Given the description of an element on the screen output the (x, y) to click on. 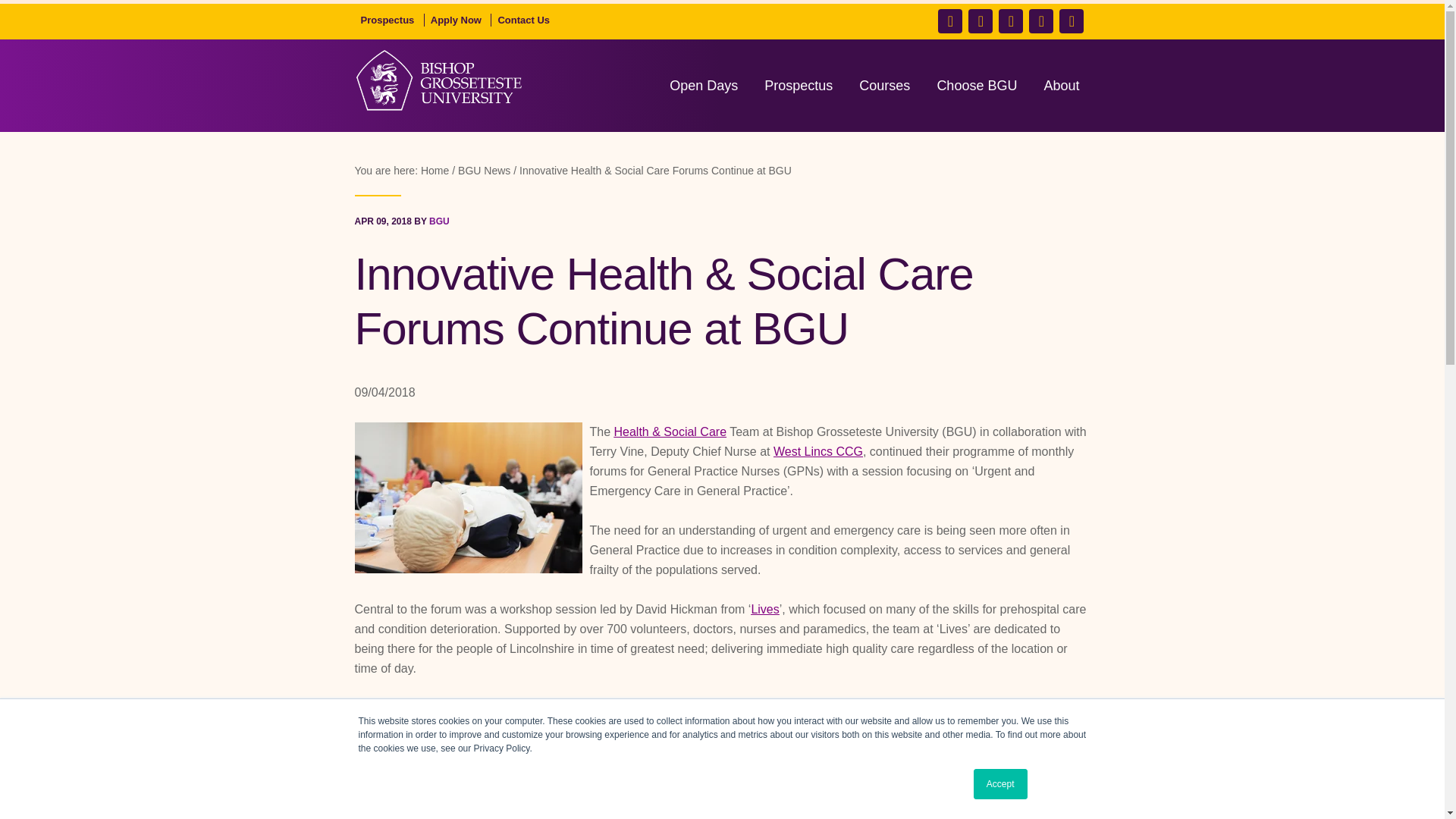
Contact Us (523, 19)
facebook (949, 21)
BGU (439, 221)
West Lincs CCG (818, 451)
linkedin (1040, 21)
Prospectus (798, 85)
Prospectus (387, 19)
BGU News (487, 170)
About (1060, 85)
Courses (884, 85)
Lives (764, 608)
Choose BGU (976, 85)
tiktok (1071, 21)
Apply Now (455, 19)
Home (437, 170)
